Given the description of an element on the screen output the (x, y) to click on. 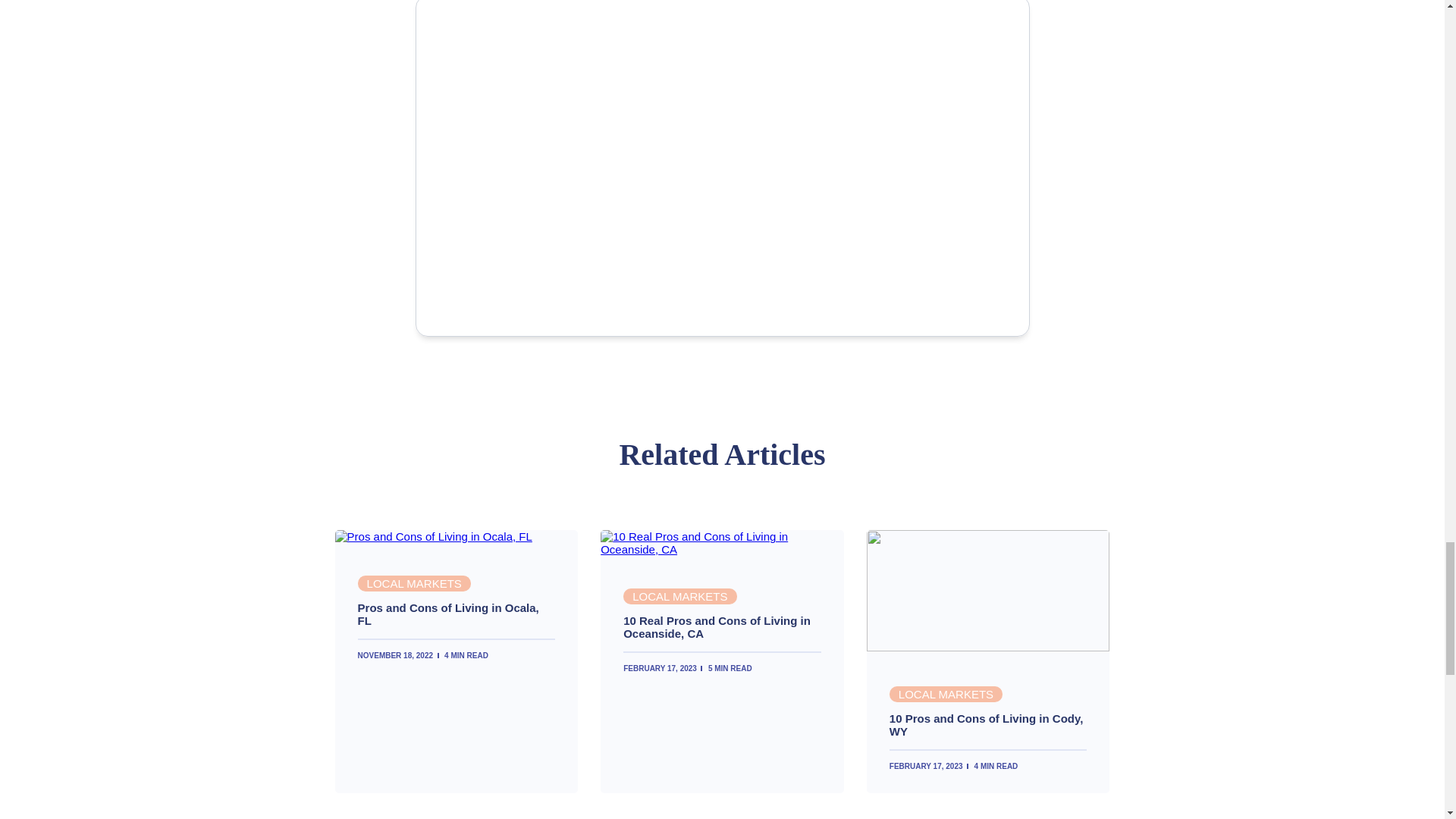
Pros and Cons of Living in Ocala, FL (457, 614)
10 Pros and Cons of Living in Cody, WY (988, 724)
10 Real Pros and Cons of Living in Oceanside, CA (721, 549)
10 Pros and Cons of Living in Cody, WY (987, 646)
10 Real Pros and Cons of Living in Oceanside, CA (722, 626)
Pros and Cons of Living in Ocala, FL (433, 535)
